Given the description of an element on the screen output the (x, y) to click on. 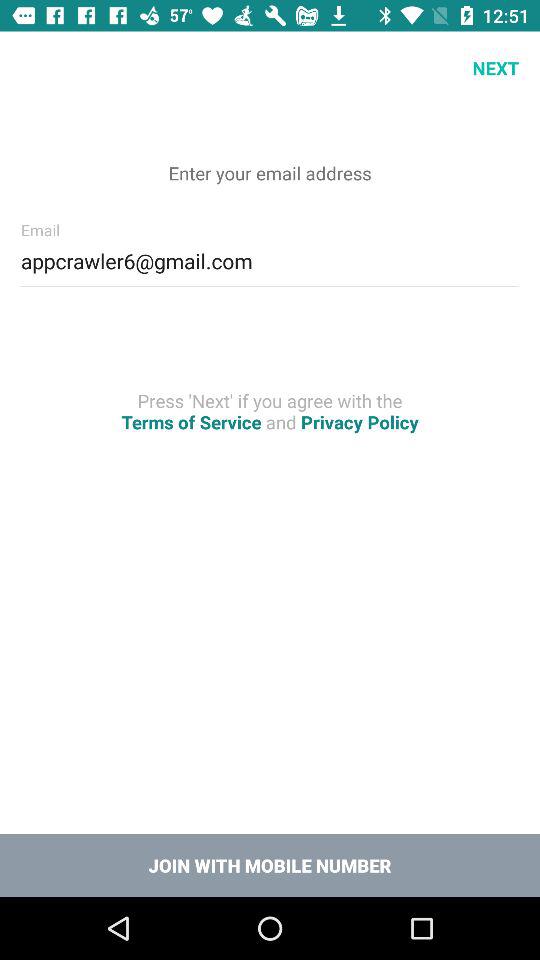
click item below enter your email icon (270, 258)
